Given the description of an element on the screen output the (x, y) to click on. 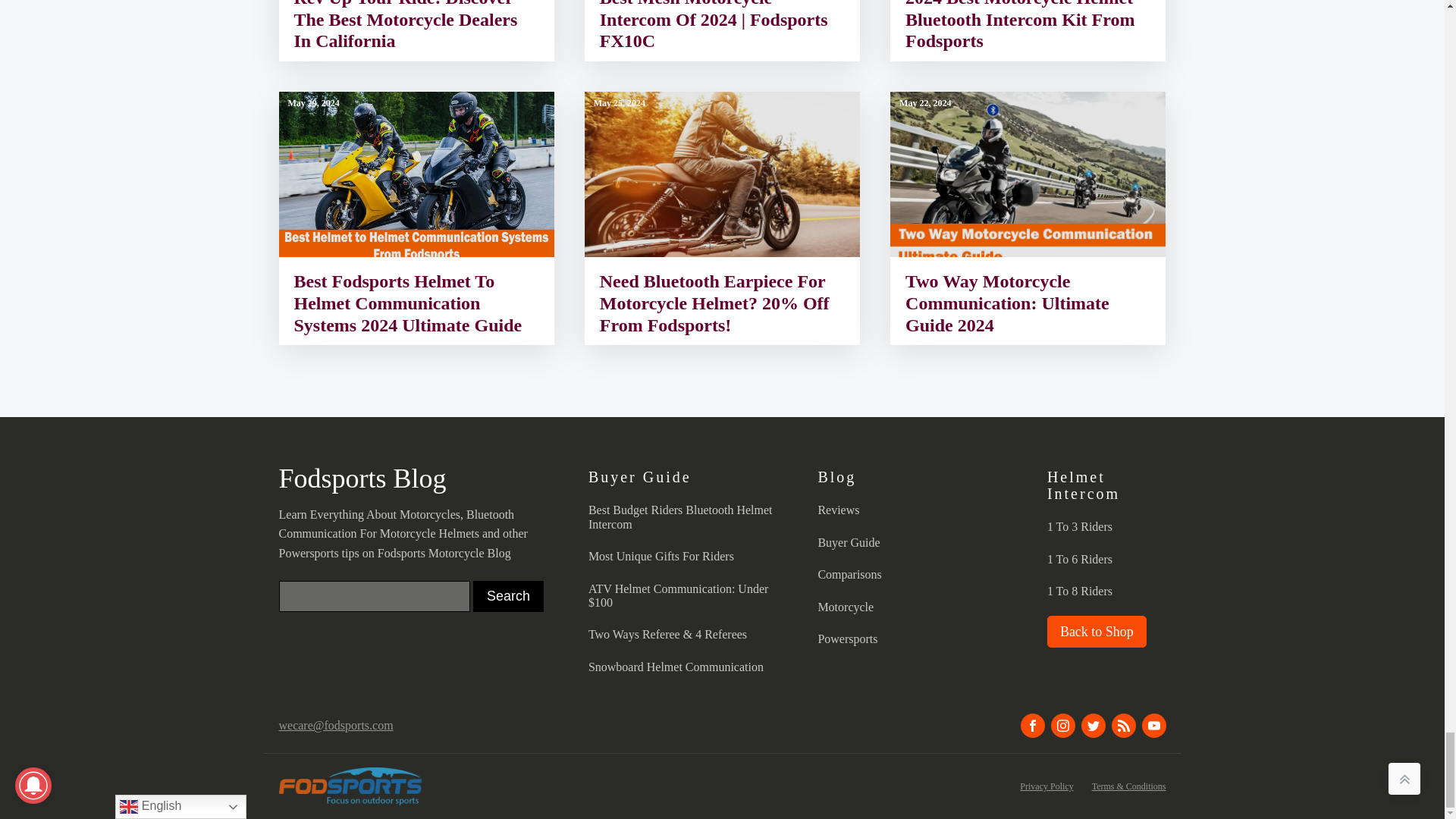
Search (508, 595)
